Given the description of an element on the screen output the (x, y) to click on. 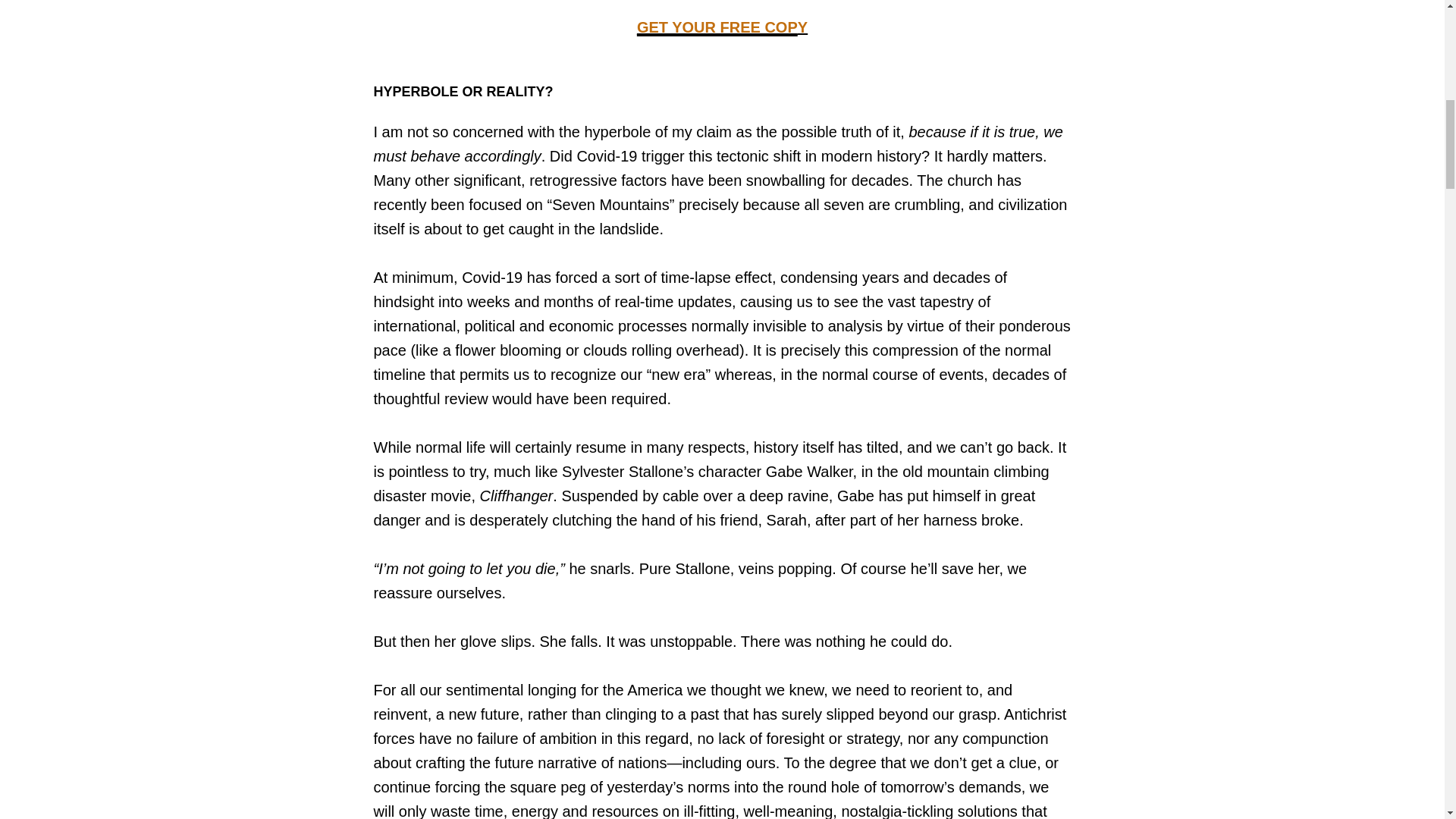
GET YOUR FREE COP (717, 27)
